Given the description of an element on the screen output the (x, y) to click on. 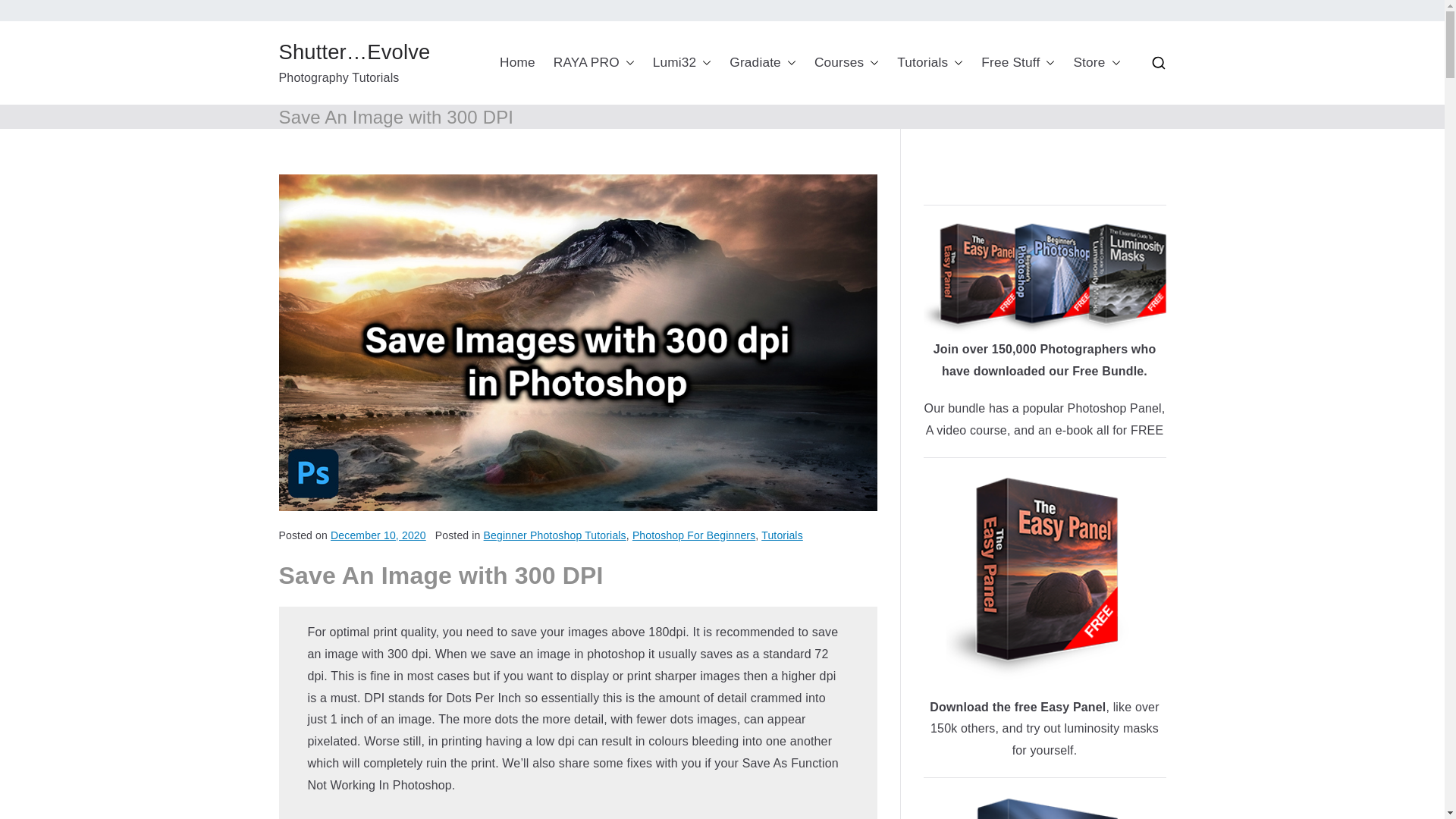
RAYA PRO (593, 62)
Free Stuff (1017, 62)
Home (517, 62)
Gradiate (762, 62)
Lumi32 (681, 62)
Tutorials (929, 62)
Courses (846, 62)
